Given the description of an element on the screen output the (x, y) to click on. 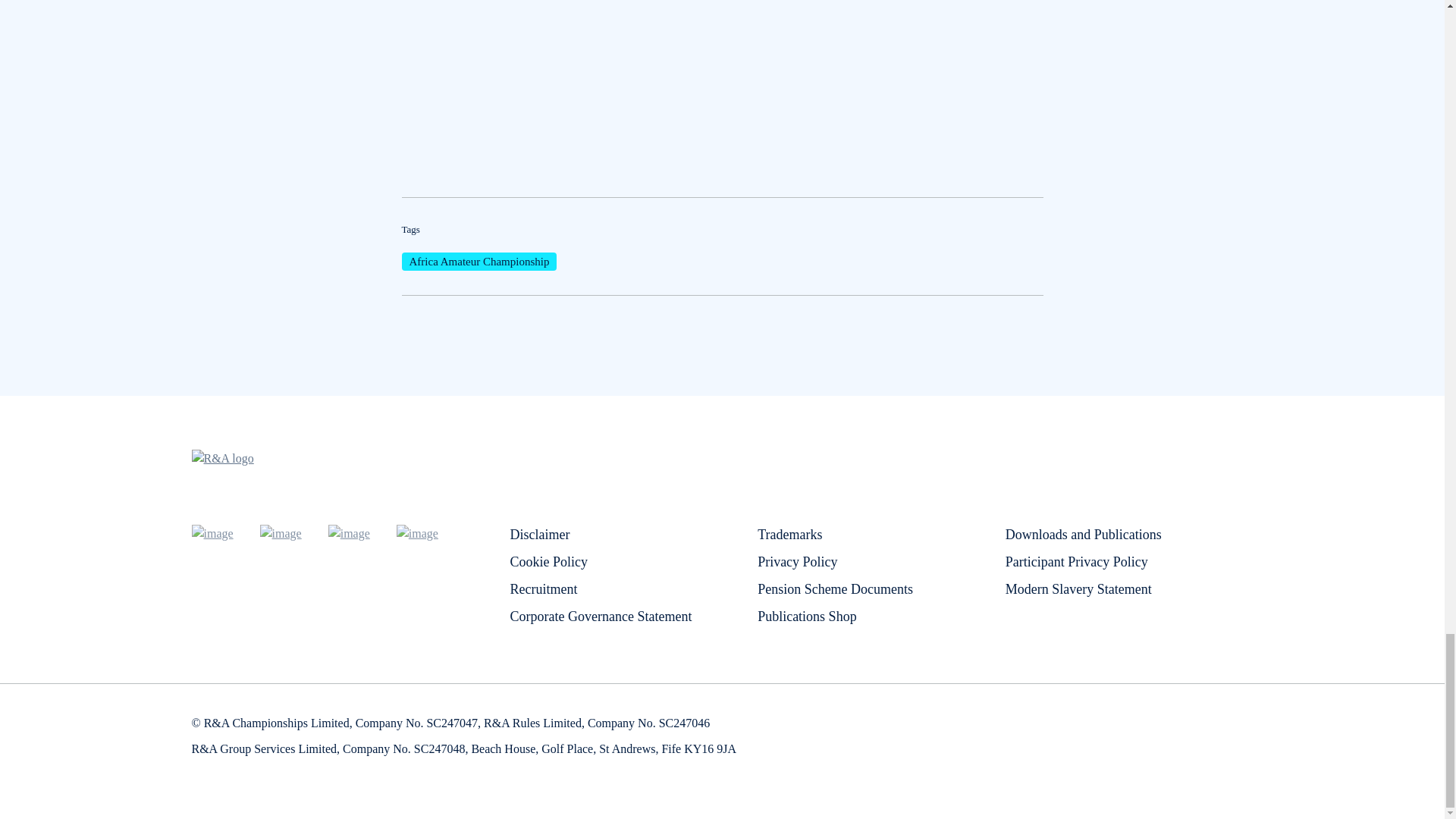
Modern Slavery Statement (1078, 589)
Corporate Governance Statement (600, 616)
Privacy Policy (797, 561)
Cookie Policy (548, 561)
Pension Scheme Documents (834, 589)
Participant Privacy Policy (1077, 561)
Recruitment (542, 589)
Publications Shop (807, 616)
Downloads and Publications (1083, 534)
Disclaimer (539, 534)
Trademarks (789, 534)
